Given the description of an element on the screen output the (x, y) to click on. 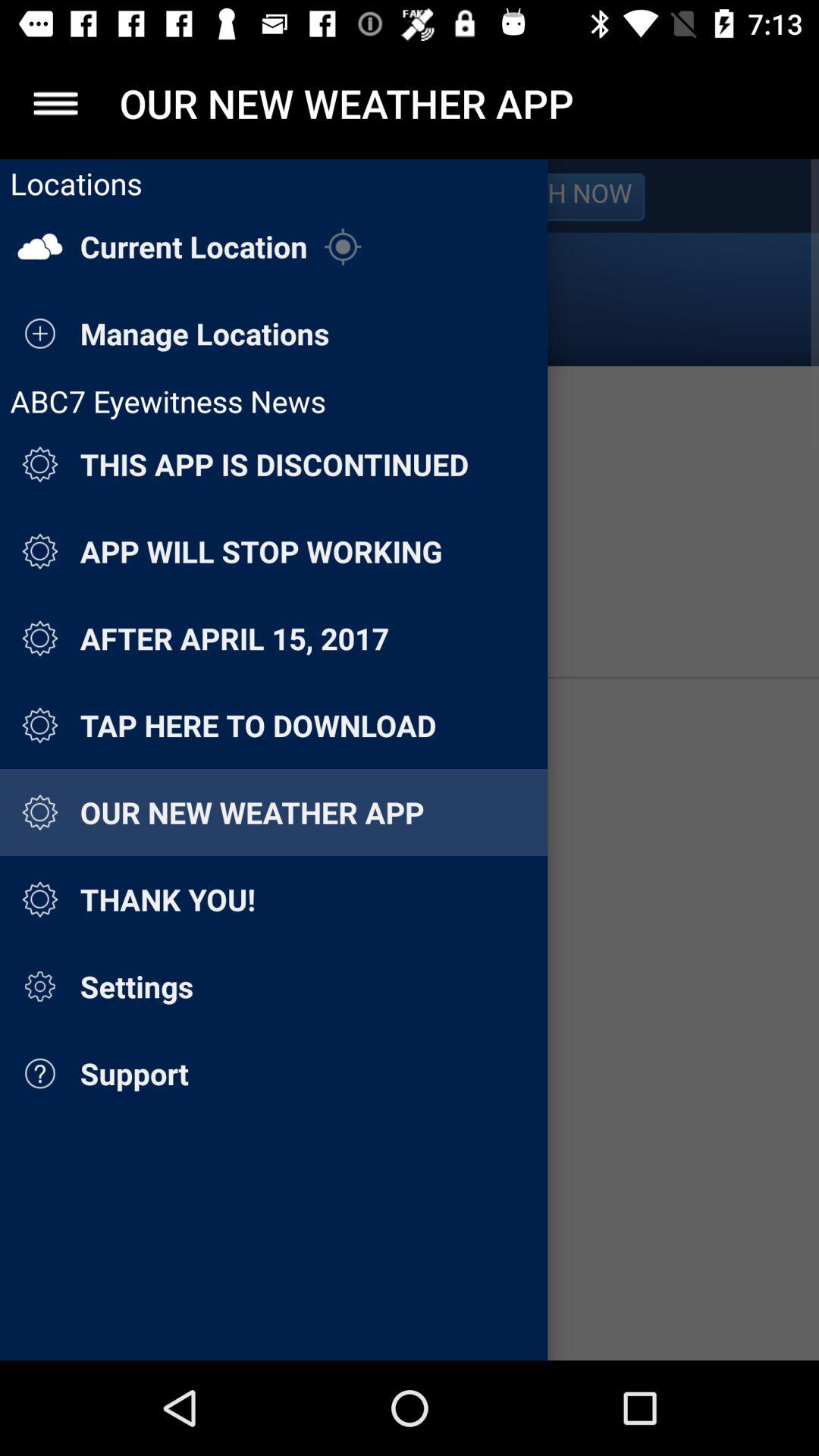
settings page (409, 759)
